Given the description of an element on the screen output the (x, y) to click on. 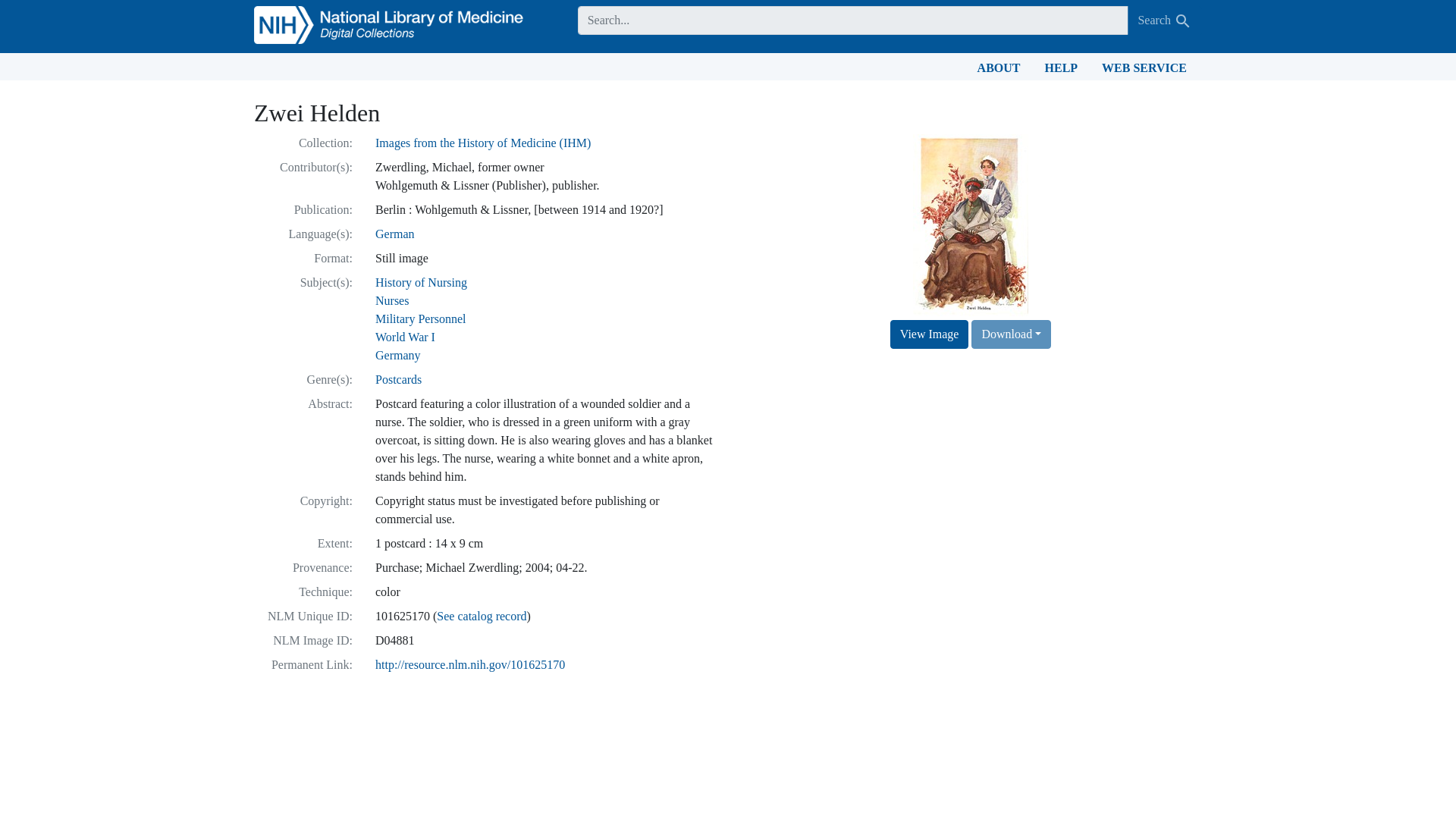
WEB SERVICE (1143, 66)
View Image (929, 334)
HELP (1061, 66)
ABOUT (998, 66)
Military Personnel (420, 318)
Search (1182, 21)
History of Nursing (421, 282)
World War I (405, 336)
Postcards (398, 379)
Search Search (1164, 20)
German (394, 233)
Germany (397, 354)
See catalog record (480, 615)
Download (1011, 334)
Nurses (392, 300)
